Given the description of an element on the screen output the (x, y) to click on. 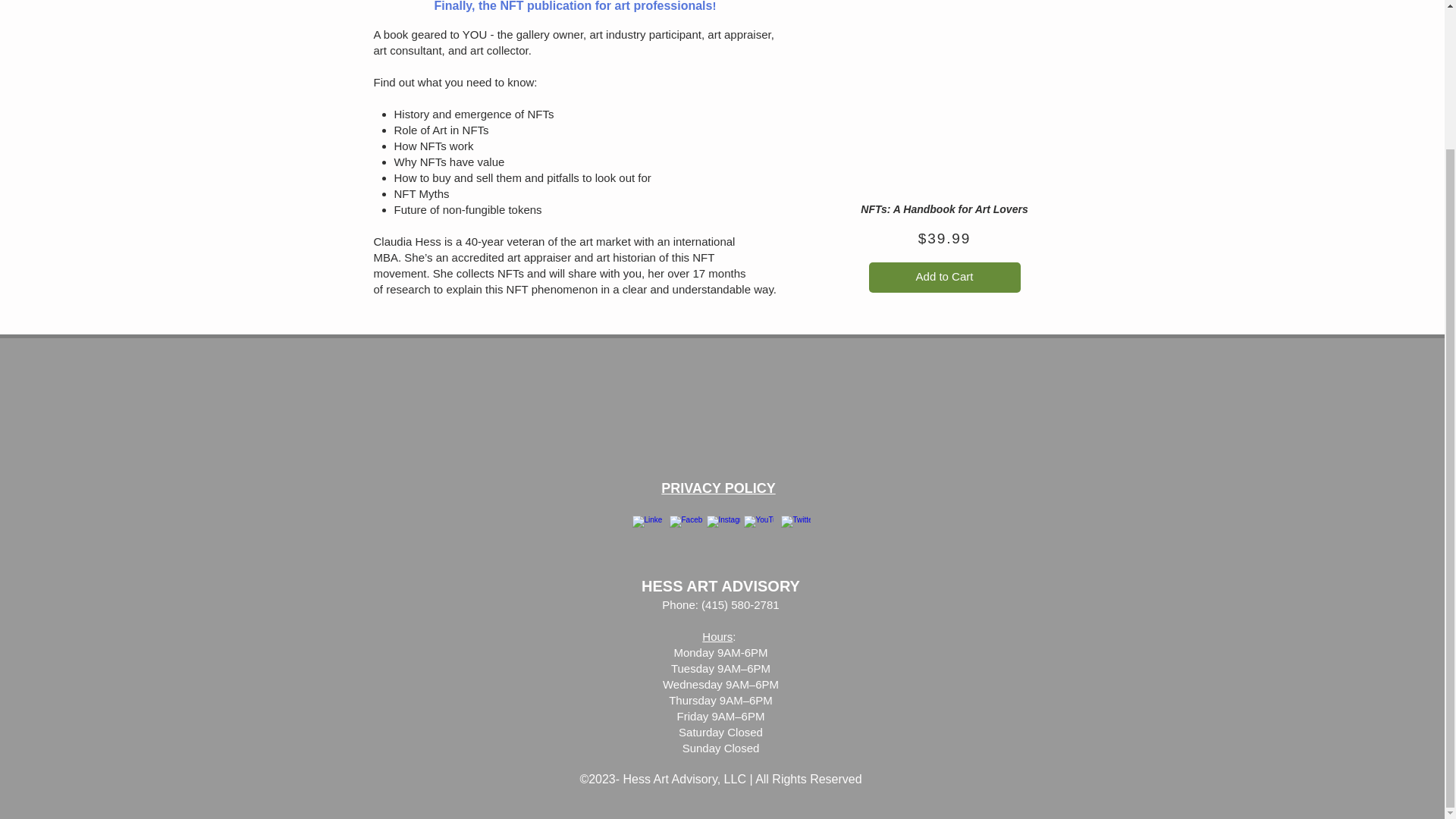
NFT Book Cover.png (943, 113)
Hours (716, 635)
PRIVACY POLICY (717, 488)
Add to Cart (944, 277)
